Given the description of an element on the screen output the (x, y) to click on. 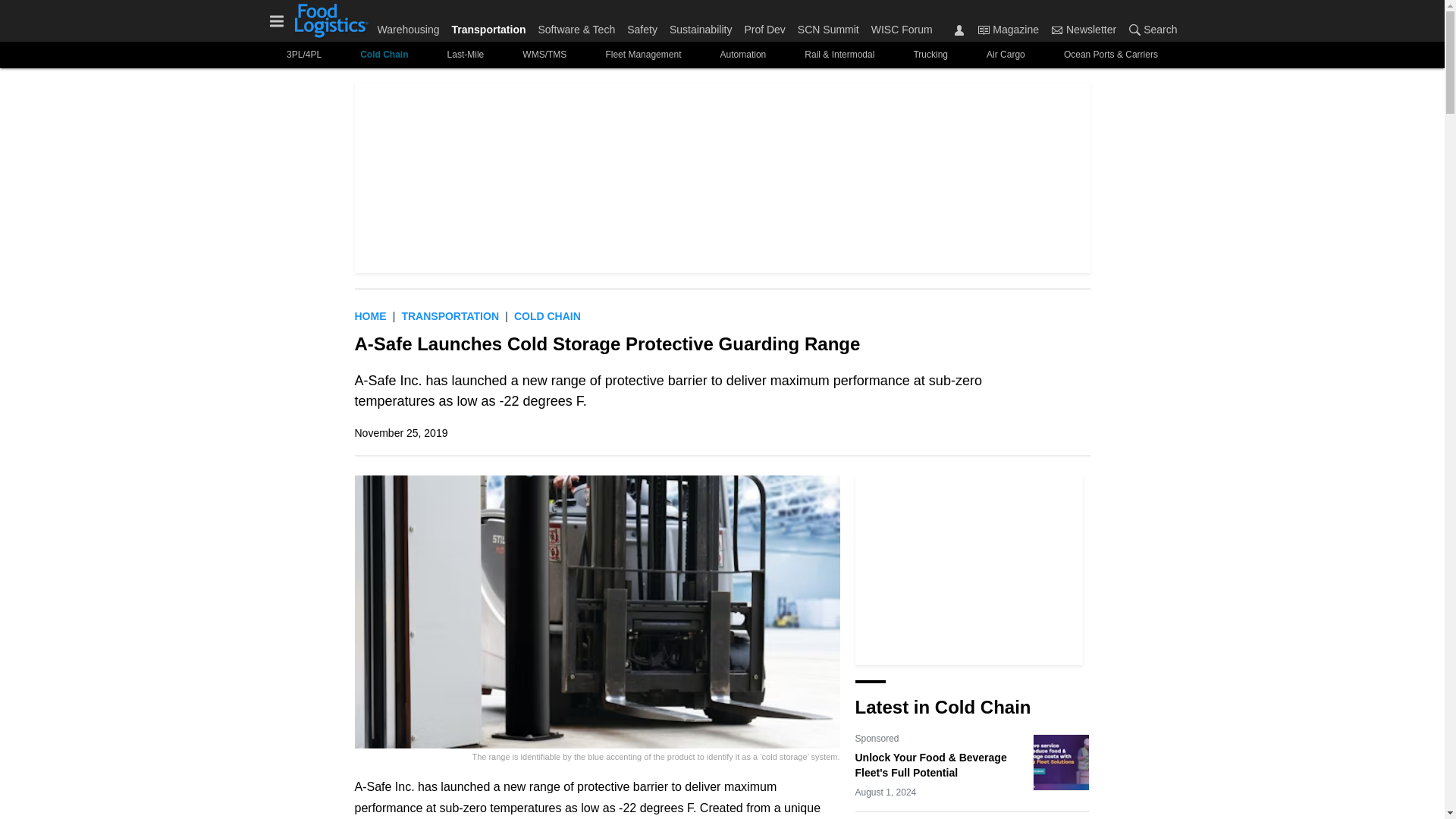
Magazine (1008, 29)
Magazine (983, 29)
Transportation (488, 26)
Transportation (450, 316)
Sign In (959, 29)
Newsletter (1056, 29)
Fleet Management (643, 54)
Home (371, 316)
Prof Dev (764, 26)
Newsletter (1083, 29)
